Given the description of an element on the screen output the (x, y) to click on. 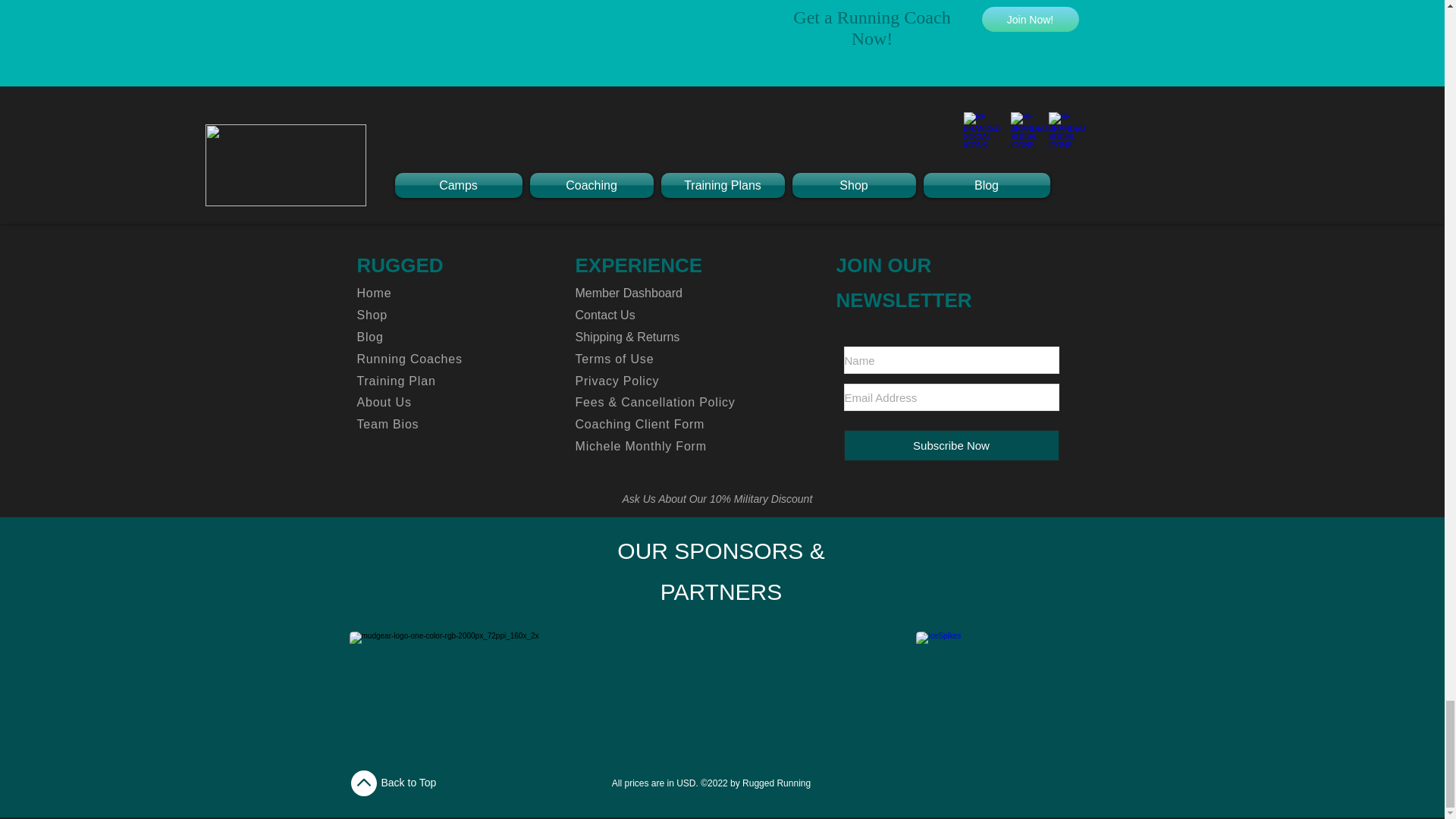
0 (445, 149)
Home (373, 292)
1 (937, 149)
Time To Fly: High Lonesome 100 Recap (721, 97)
2 (691, 149)
Age Is Just a Number: Stan Fortuna's Story (1046, 149)
